Given the description of an element on the screen output the (x, y) to click on. 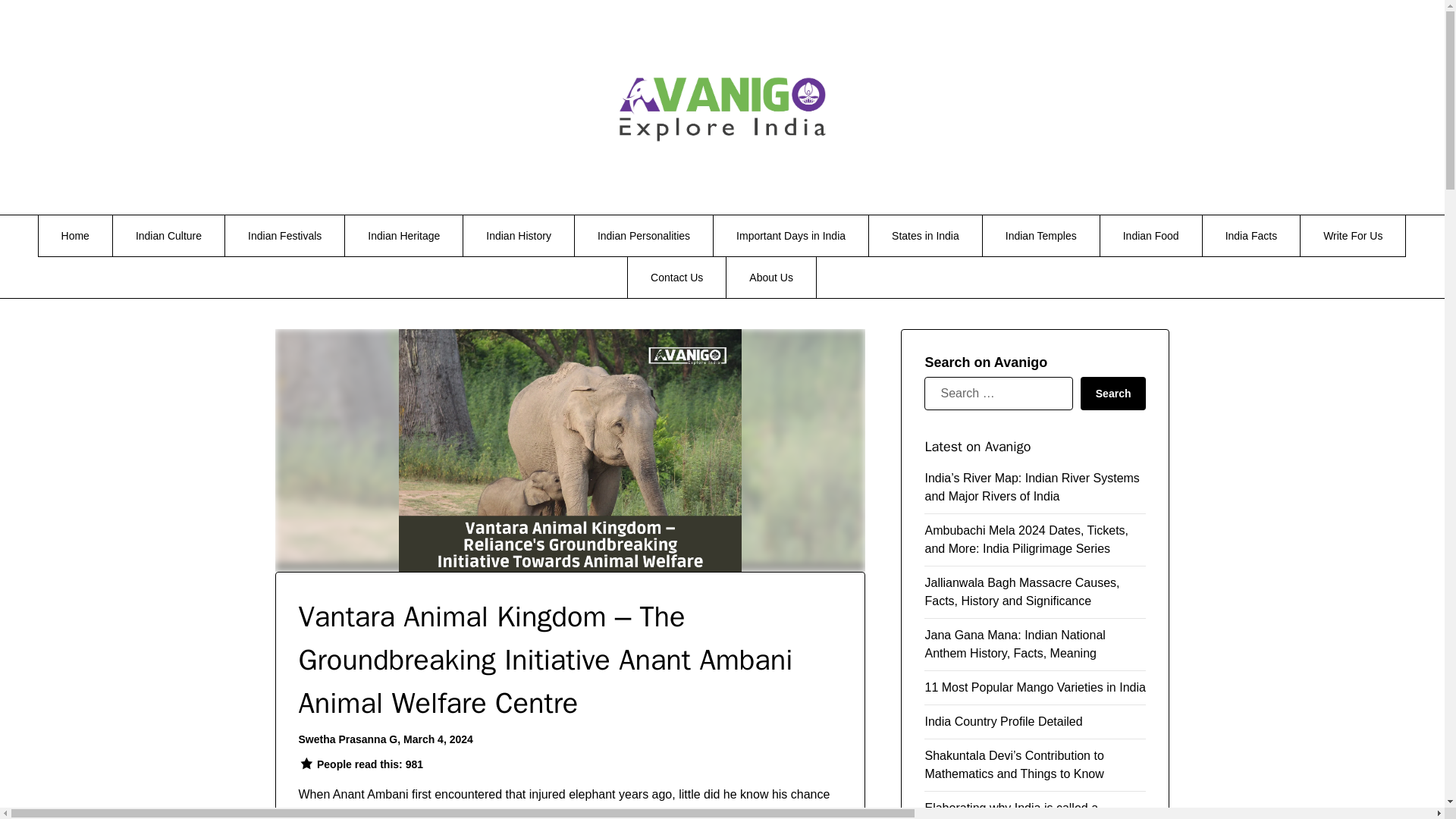
States in India (925, 235)
India Facts (1251, 235)
Indian History (518, 235)
Indian Temples (1040, 235)
Indian Festivals (284, 235)
Search (1113, 393)
Search (1113, 393)
Indian Heritage (404, 235)
Search (1113, 393)
Indian Personalities (644, 235)
